Given the description of an element on the screen output the (x, y) to click on. 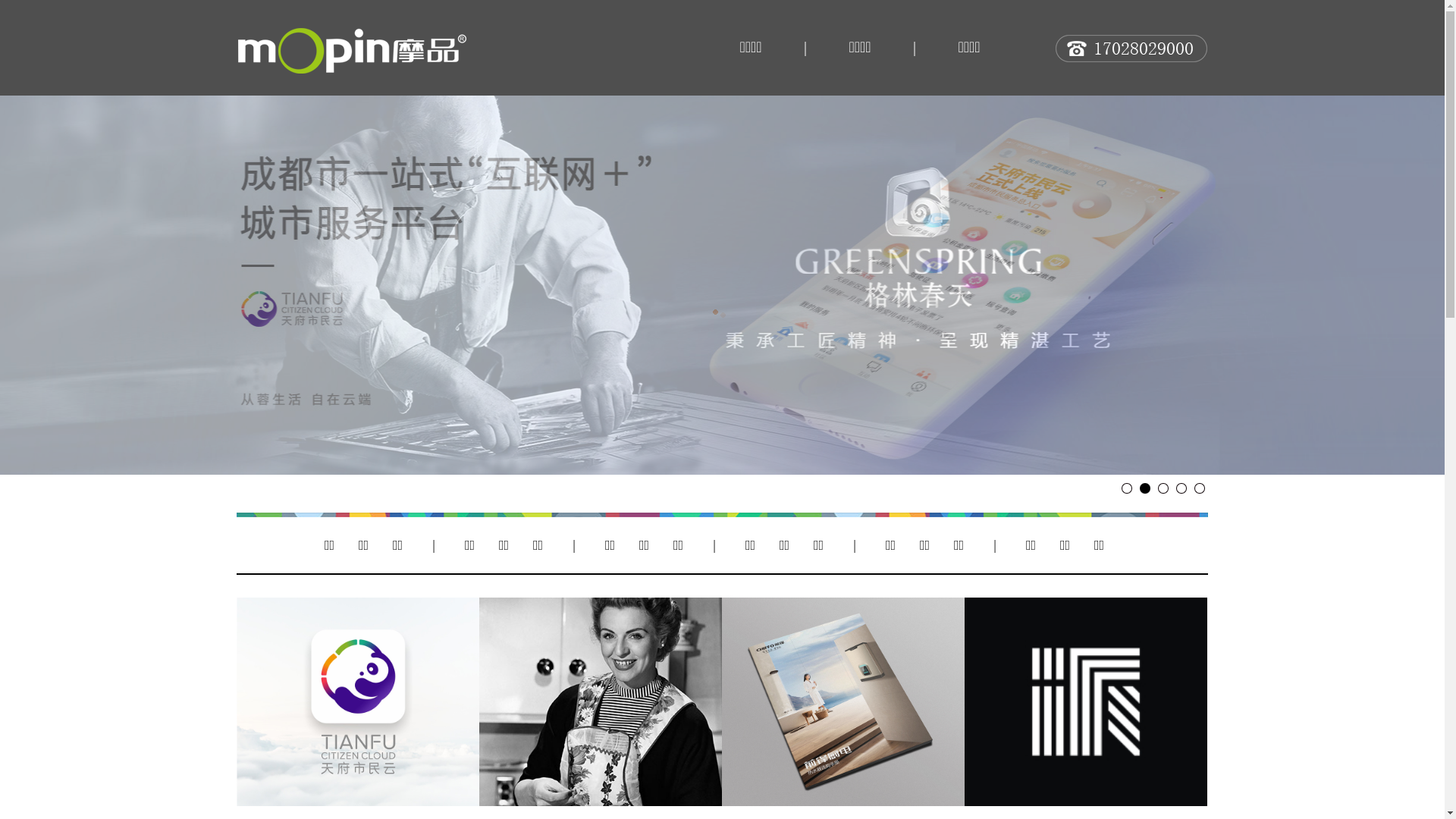
4 Element type: text (1180, 488)
1 Element type: text (1125, 488)
5 Element type: text (1198, 488)
2 Element type: text (1144, 488)
3 Element type: text (1162, 488)
